Given the description of an element on the screen output the (x, y) to click on. 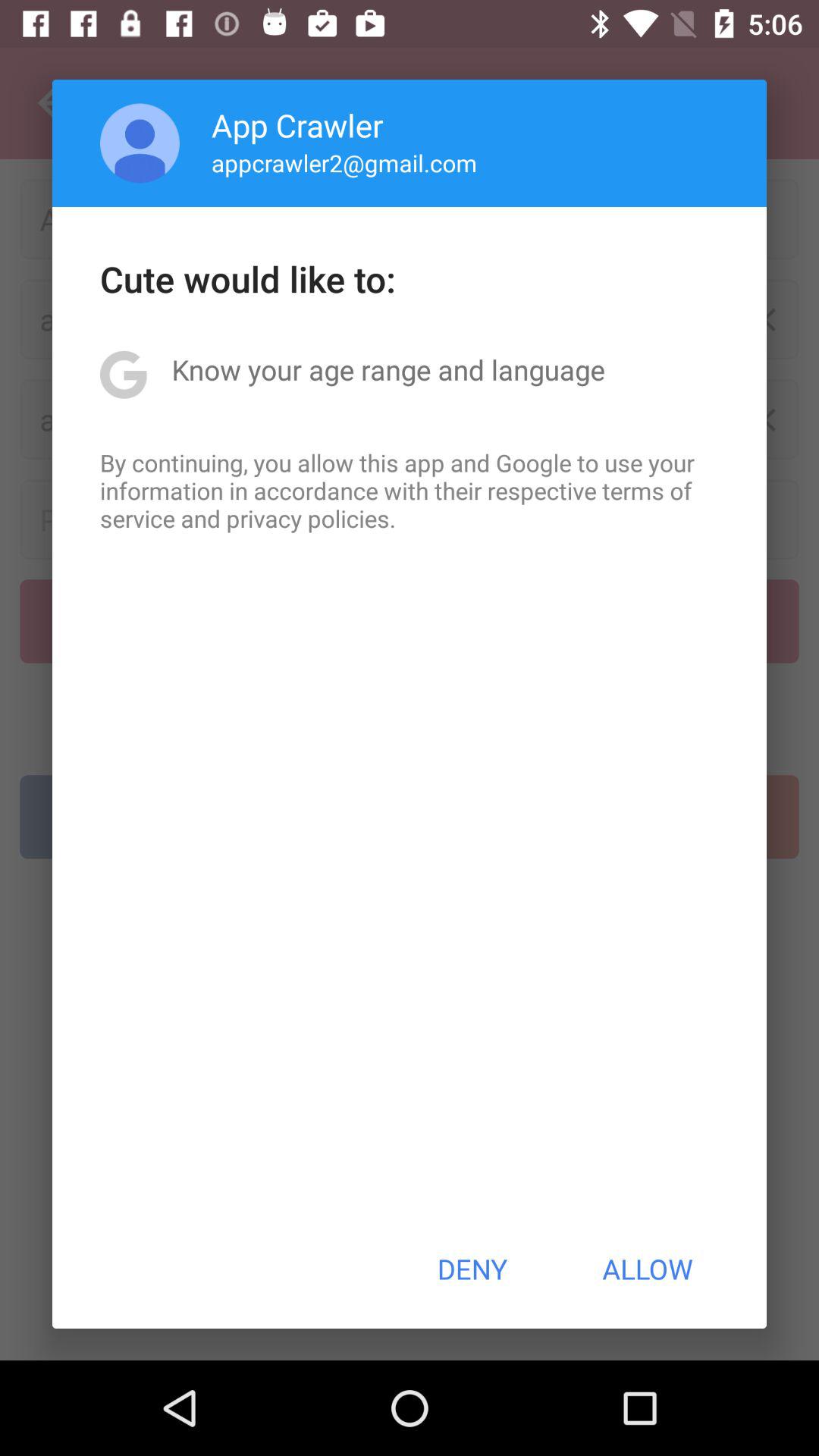
scroll until the deny button (471, 1268)
